Given the description of an element on the screen output the (x, y) to click on. 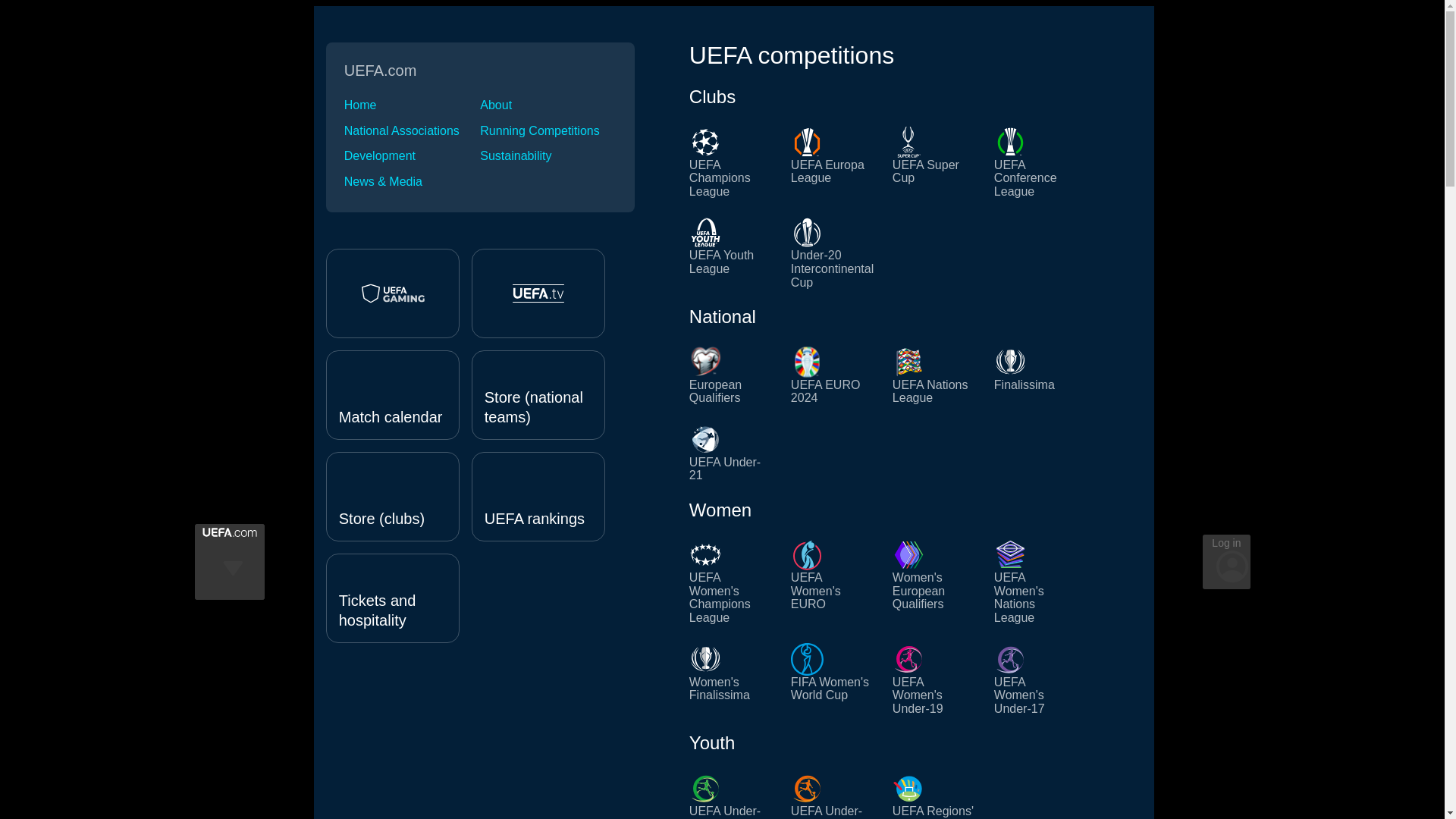
European Qualifiers (730, 374)
About (547, 105)
Sustainability (547, 155)
UEFA Regions' Cup (933, 795)
UEFA Under-19 (730, 795)
UEFA Under-17 (832, 795)
UEFA Nations League (933, 374)
Finalissima (1035, 374)
Under-20 Intercontinental Cup (832, 252)
FIFA Women's World Cup (832, 678)
UEFA Europa League (832, 162)
Home (411, 105)
National Associations (411, 131)
Development (411, 155)
UEFA Women's EURO (832, 581)
